Given the description of an element on the screen output the (x, y) to click on. 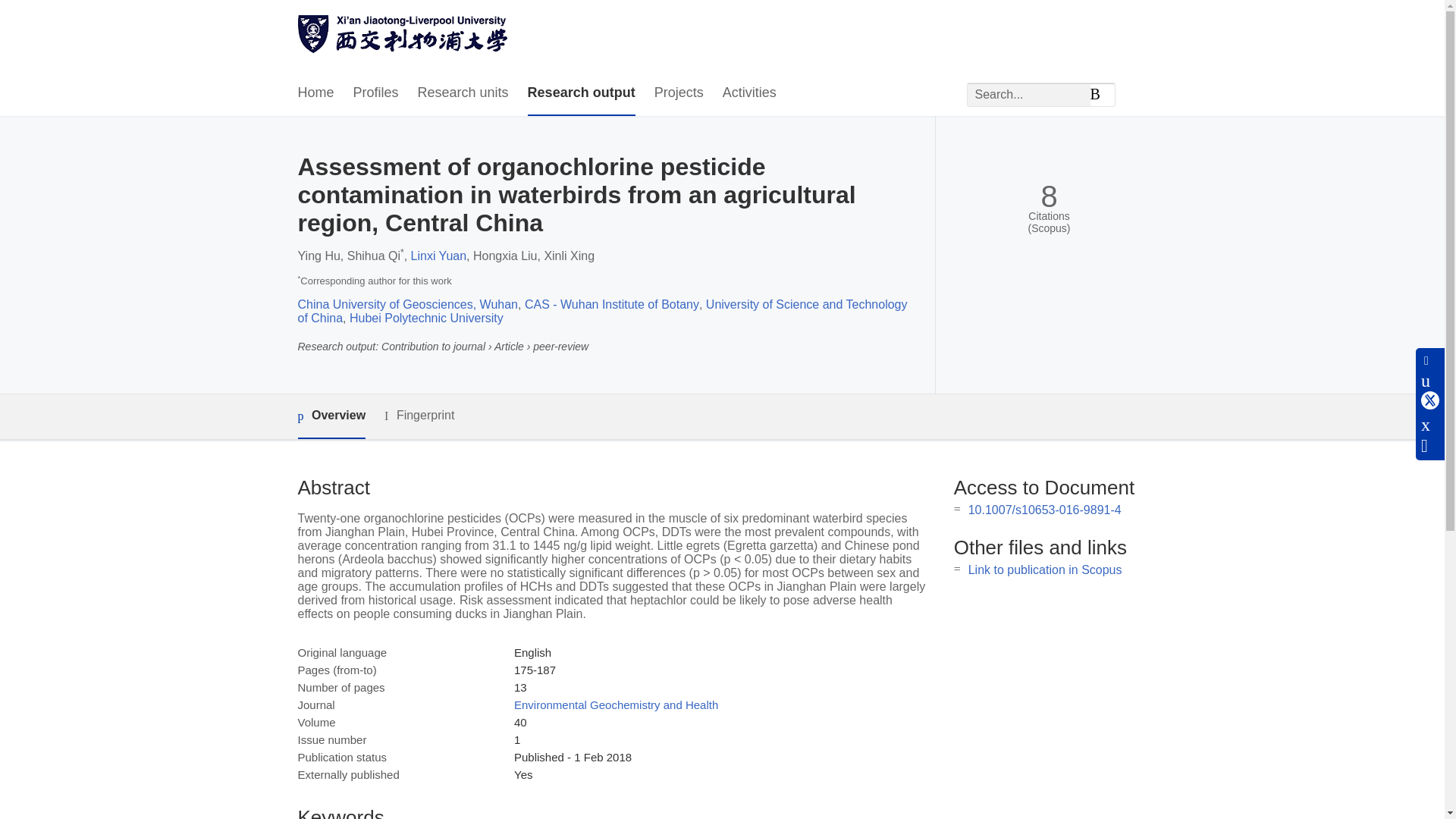
Projects (678, 93)
Research units (462, 93)
Xi'an Jiaotong-Liverpool University Home (401, 35)
CAS - Wuhan Institute of Botany (611, 304)
Link to publication in Scopus (1045, 569)
Activities (749, 93)
Environmental Geochemistry and Health (615, 704)
Fingerprint (419, 415)
Linxi Yuan (438, 255)
Profiles (375, 93)
